Given the description of an element on the screen output the (x, y) to click on. 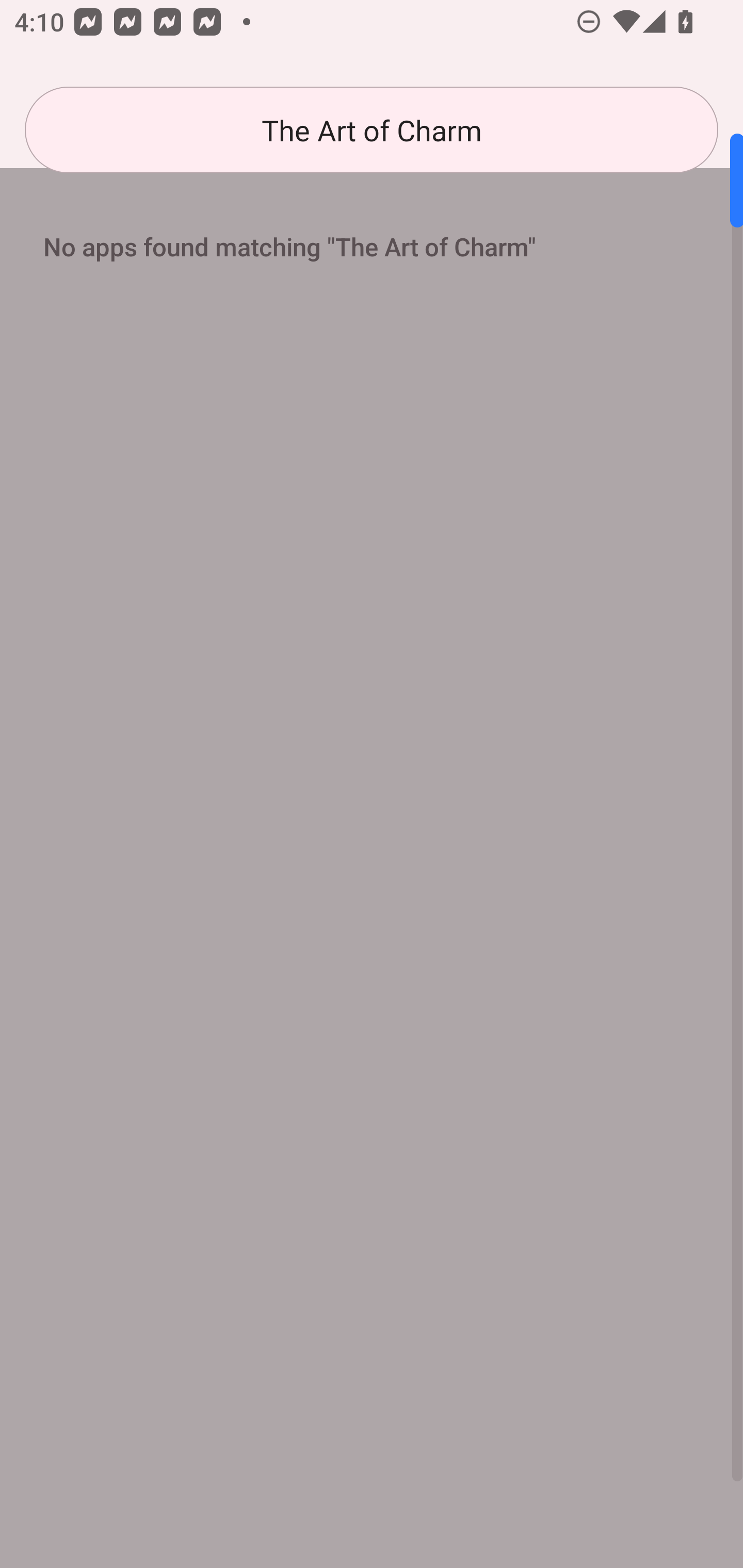
The Art of Charm (371, 130)
